Given the description of an element on the screen output the (x, y) to click on. 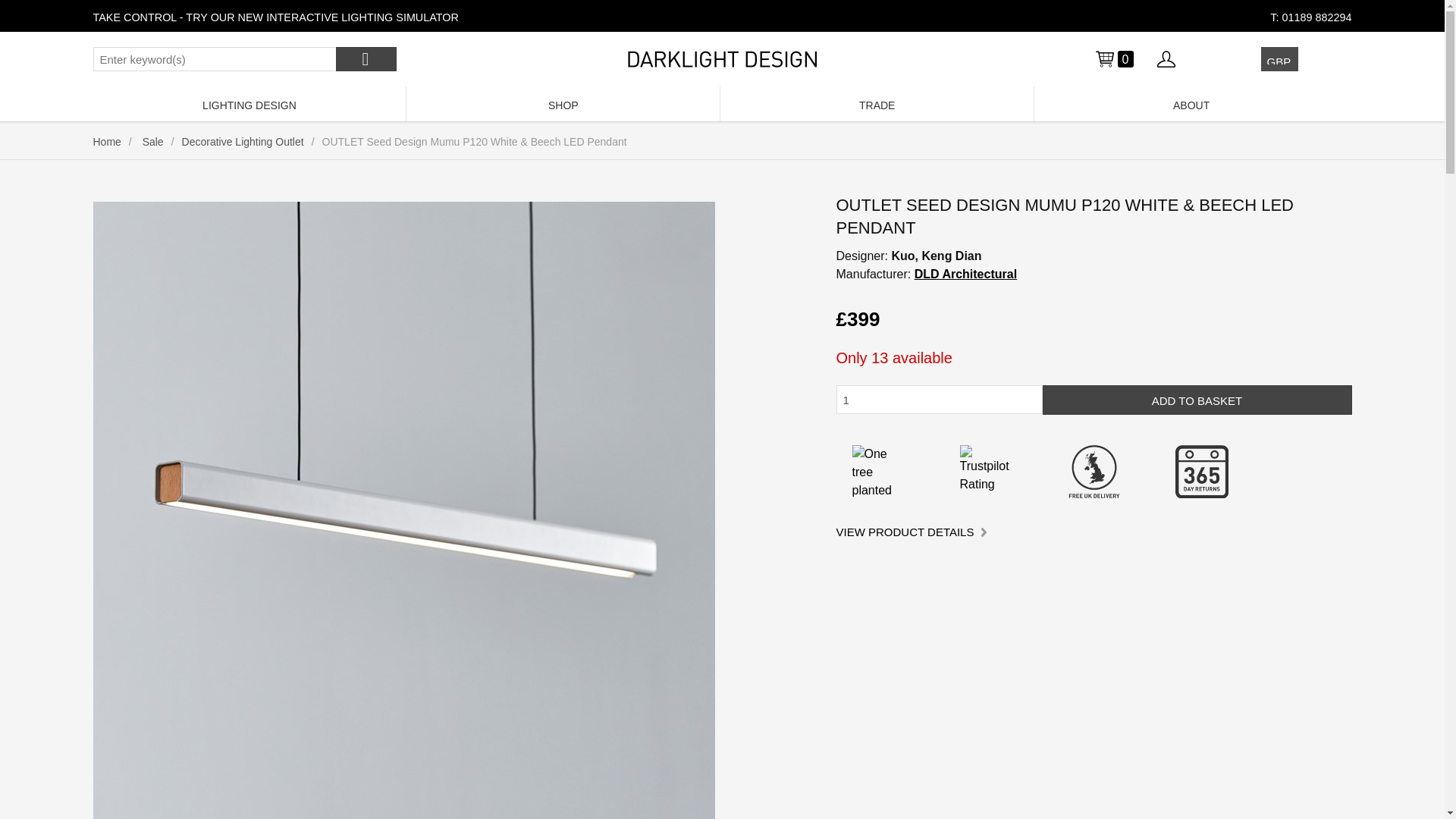
Add to basket (1196, 399)
LIGHTING DESIGN (249, 103)
SHOP (563, 103)
1 (938, 399)
01189 882294 (1316, 17)
0 (1113, 58)
TAKE CONTROL - TRY OUR NEW INTERACTIVE LIGHTING SIMULATOR (275, 17)
